Given the description of an element on the screen output the (x, y) to click on. 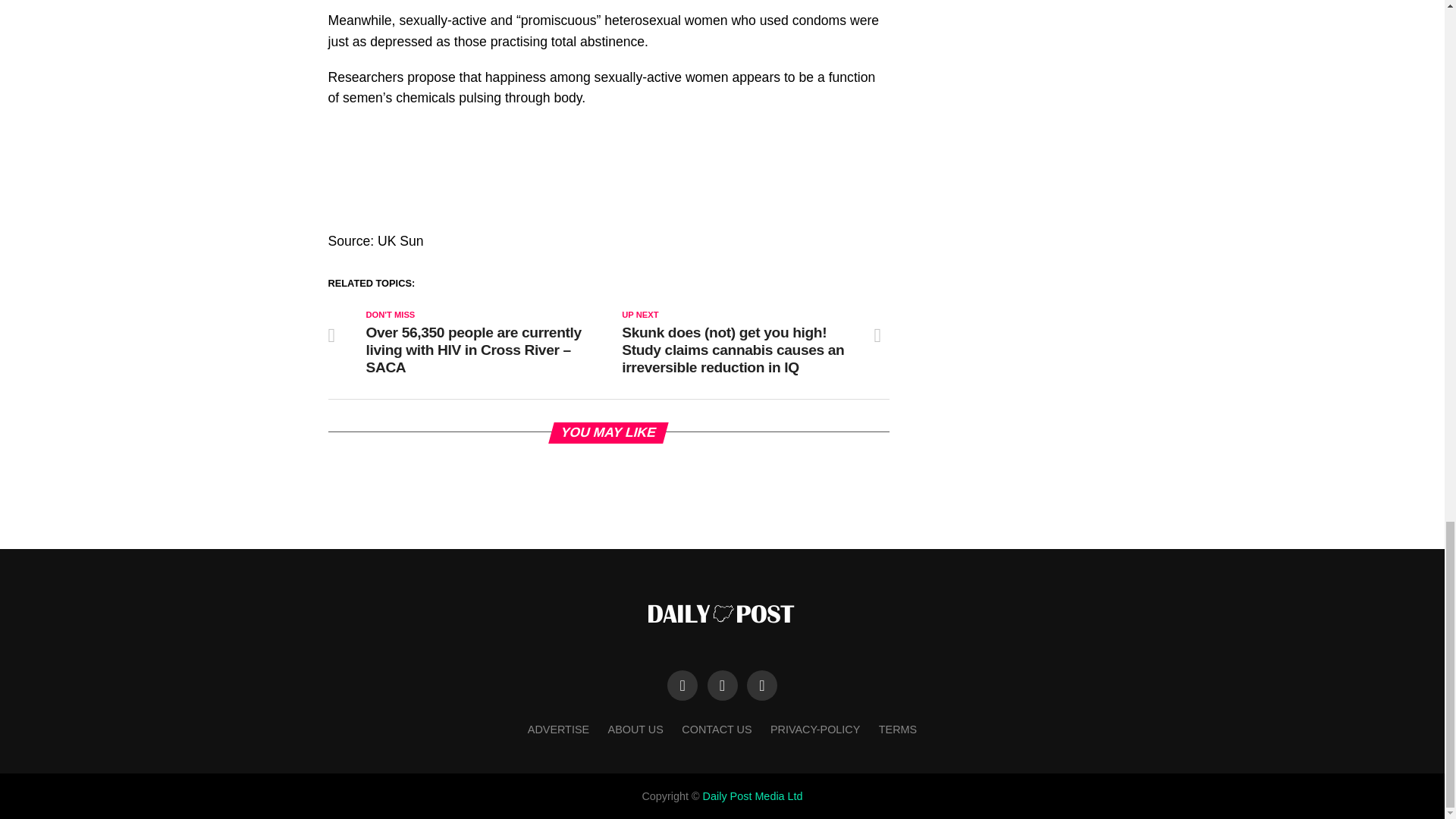
Daily Post Media Ltd (753, 796)
CONTACT US (716, 729)
PRIVACY-POLICY (815, 729)
ADVERTISE (558, 729)
ABOUT US (635, 729)
TERMS (898, 729)
